Given the description of an element on the screen output the (x, y) to click on. 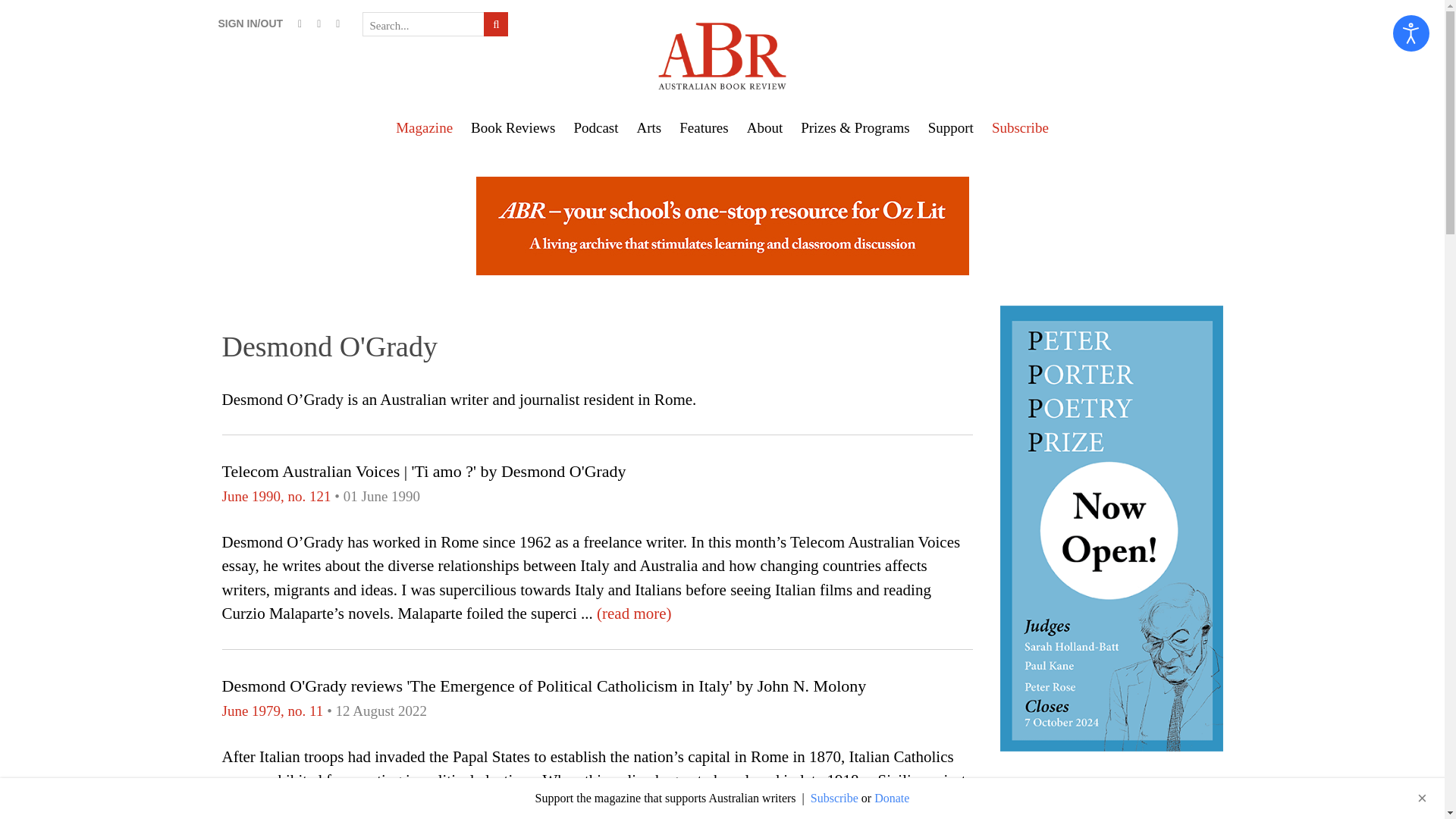
Magazine (424, 127)
Open accessibility tools (1411, 33)
Book Reviews (512, 127)
